Given the description of an element on the screen output the (x, y) to click on. 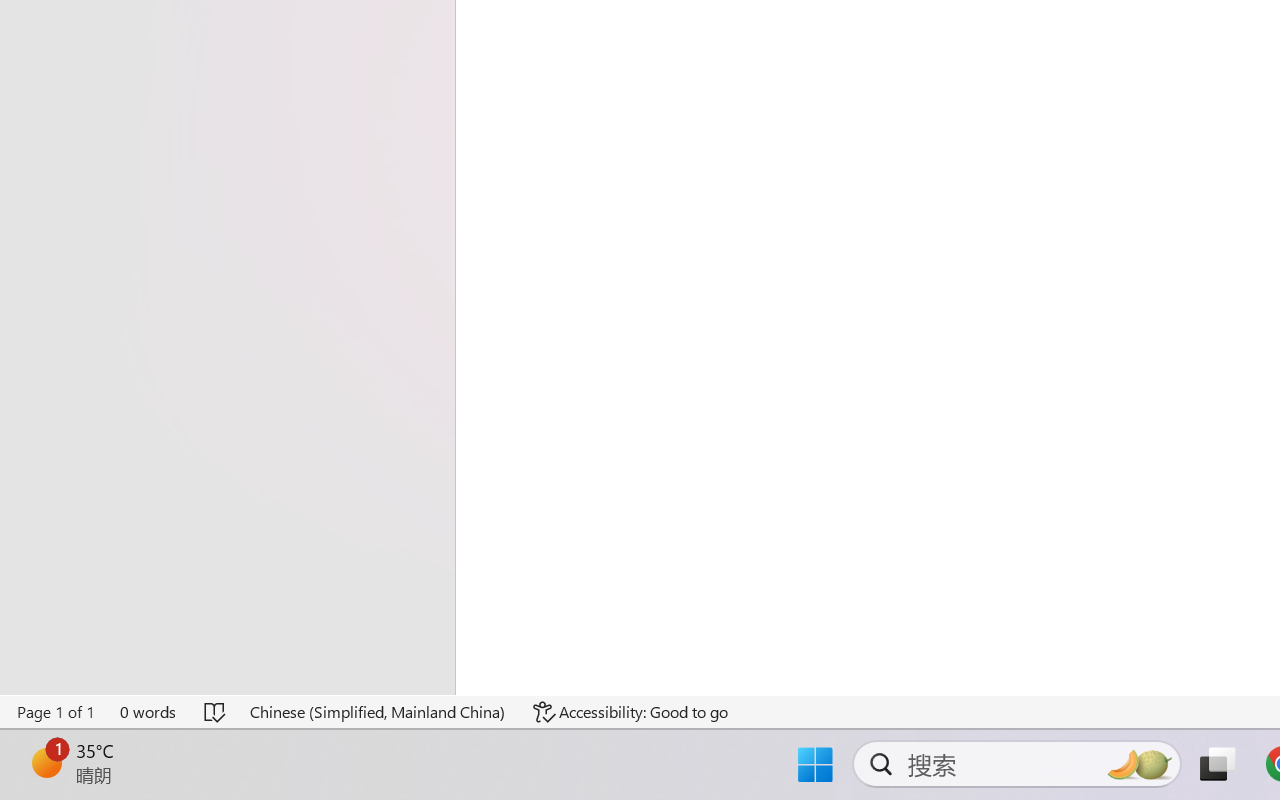
Language Chinese (Simplified, Mainland China) (378, 712)
